Given the description of an element on the screen output the (x, y) to click on. 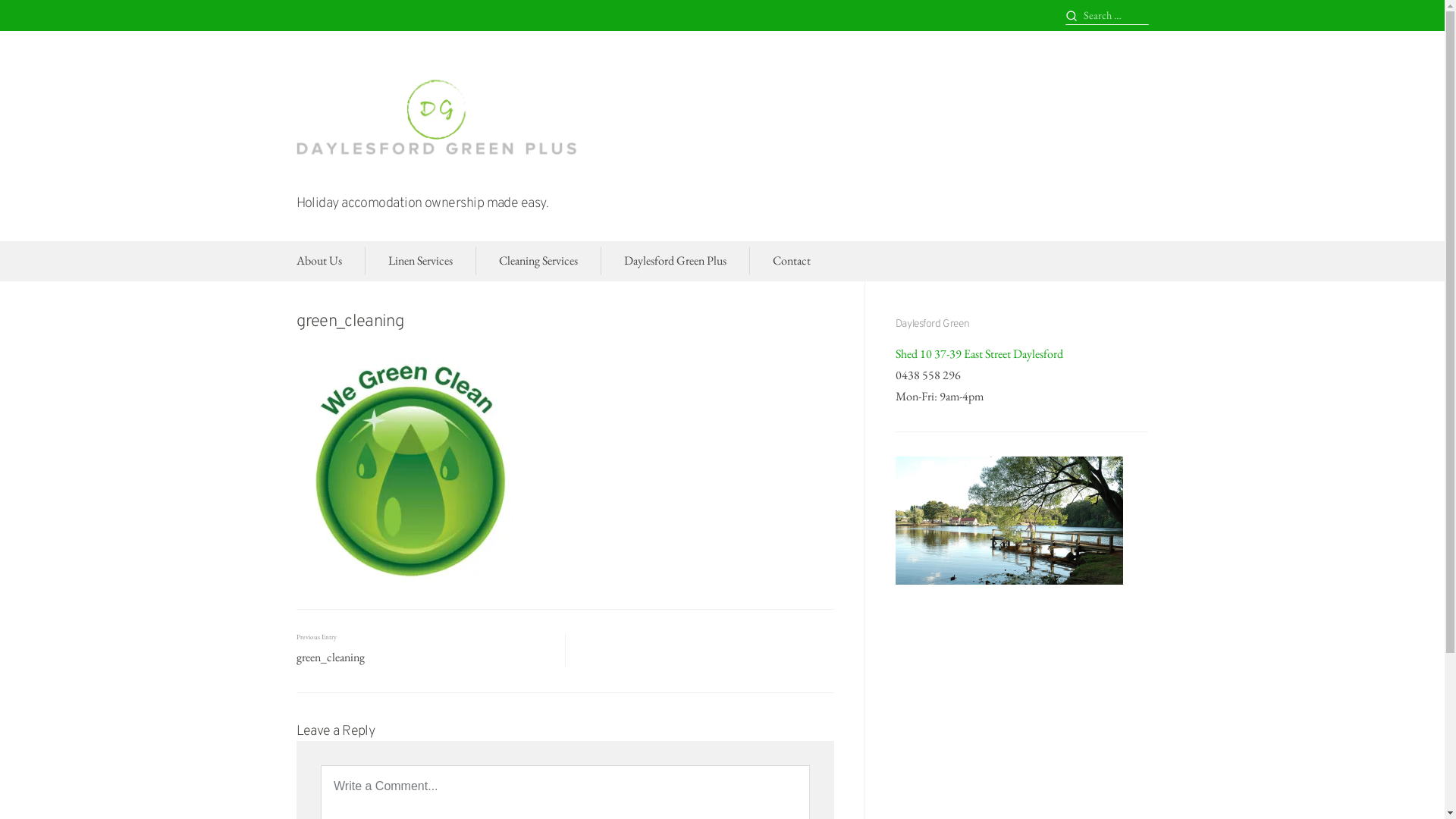
Cleaning Services Element type: text (537, 260)
Daylesford Green Plus Element type: text (674, 260)
Holiday accomodation ownership made easy. Element type: text (421, 203)
Linen Services Element type: text (420, 260)
Previous Entry
green_cleaning Element type: text (425, 650)
Shed 10 37-39 East Street Daylesford Element type: text (979, 353)
About Us Element type: text (318, 260)
Contact Element type: text (790, 260)
